Given the description of an element on the screen output the (x, y) to click on. 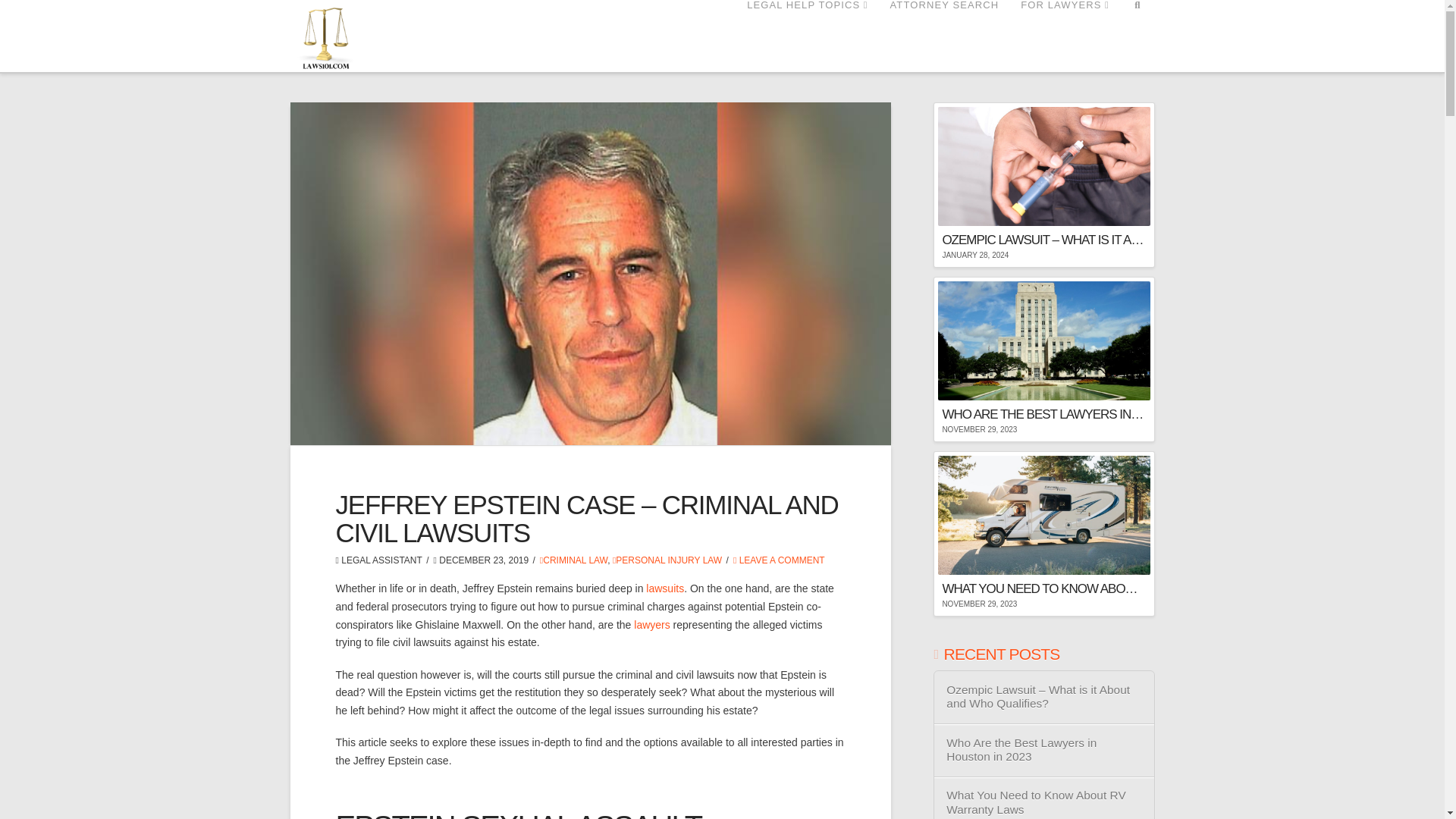
LEGAL HELP TOPICS (806, 36)
FOR LAWYERS (1064, 36)
ATTORNEY SEARCH (944, 36)
Permalink to: "Who Are the Best Lawyers in Houston in 2023" (1043, 359)
Permalink to: "What You Need to Know About RV Warranty Laws" (1043, 533)
